Given the description of an element on the screen output the (x, y) to click on. 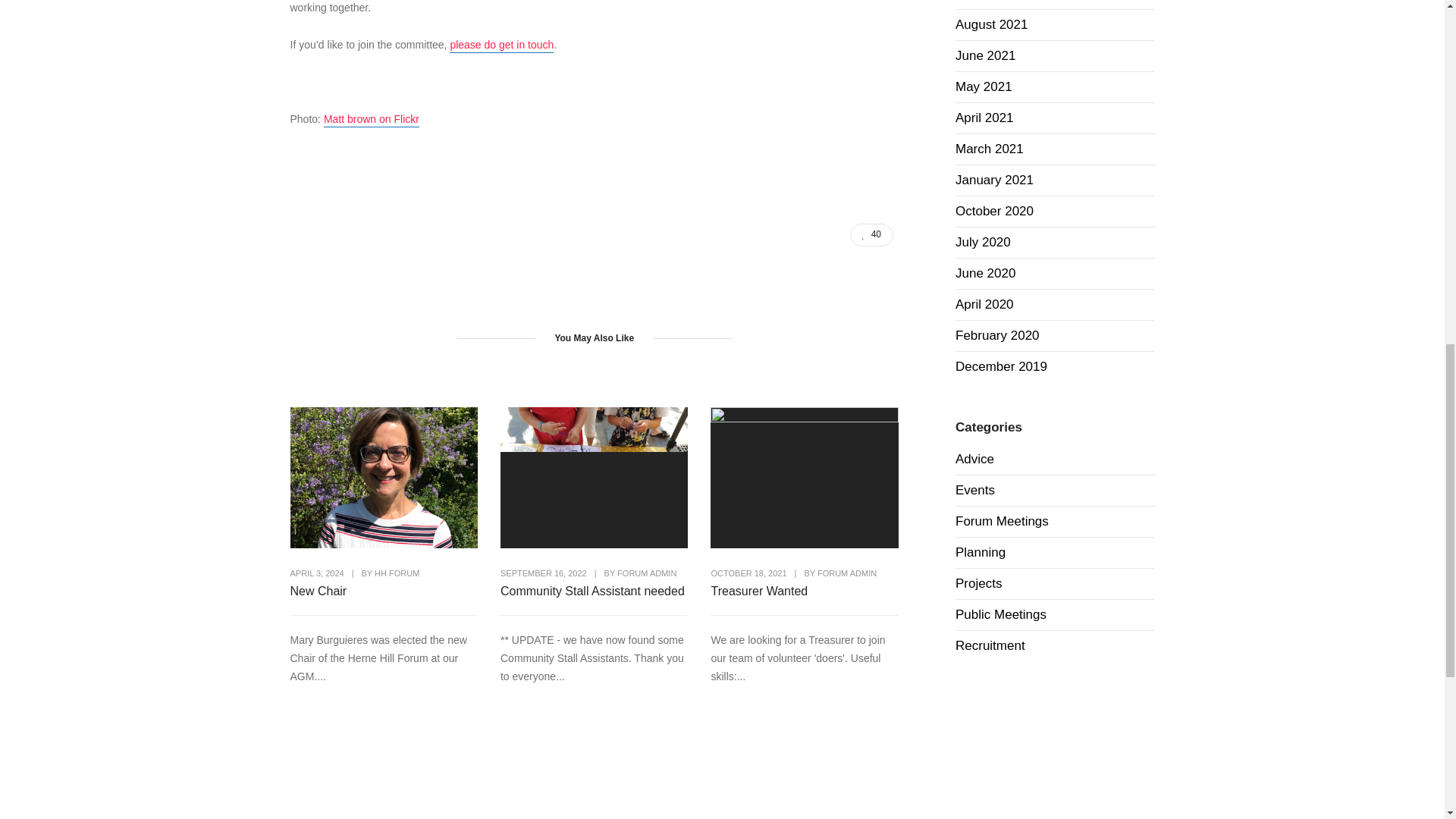
Like (871, 234)
